Given the description of an element on the screen output the (x, y) to click on. 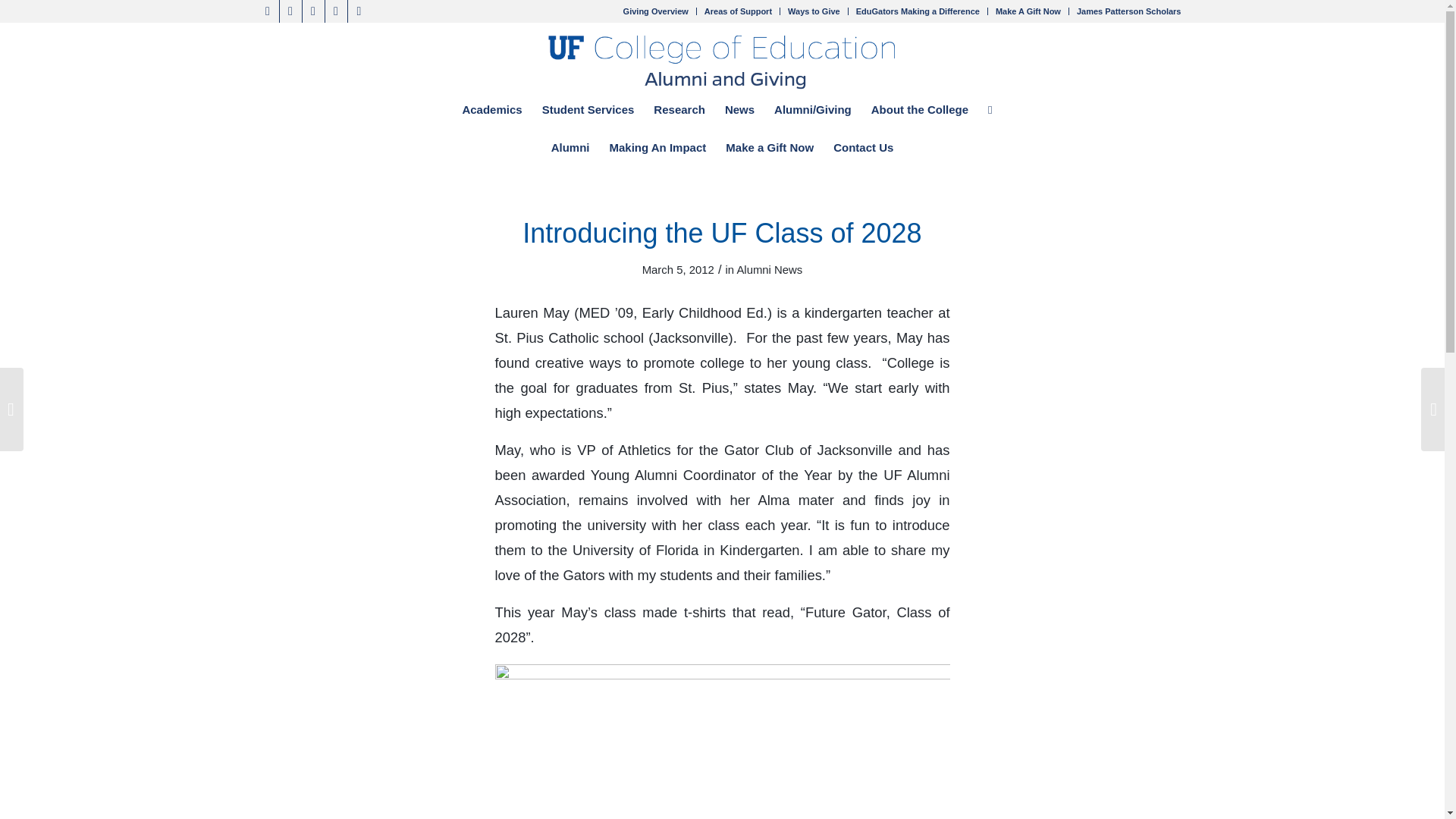
Flickr (335, 11)
Facebook (290, 11)
Permanent Link: Introducing the UF Class of 2028 (721, 232)
Instagram (358, 11)
Linkedin (312, 11)
Twitter (267, 11)
